Given the description of an element on the screen output the (x, y) to click on. 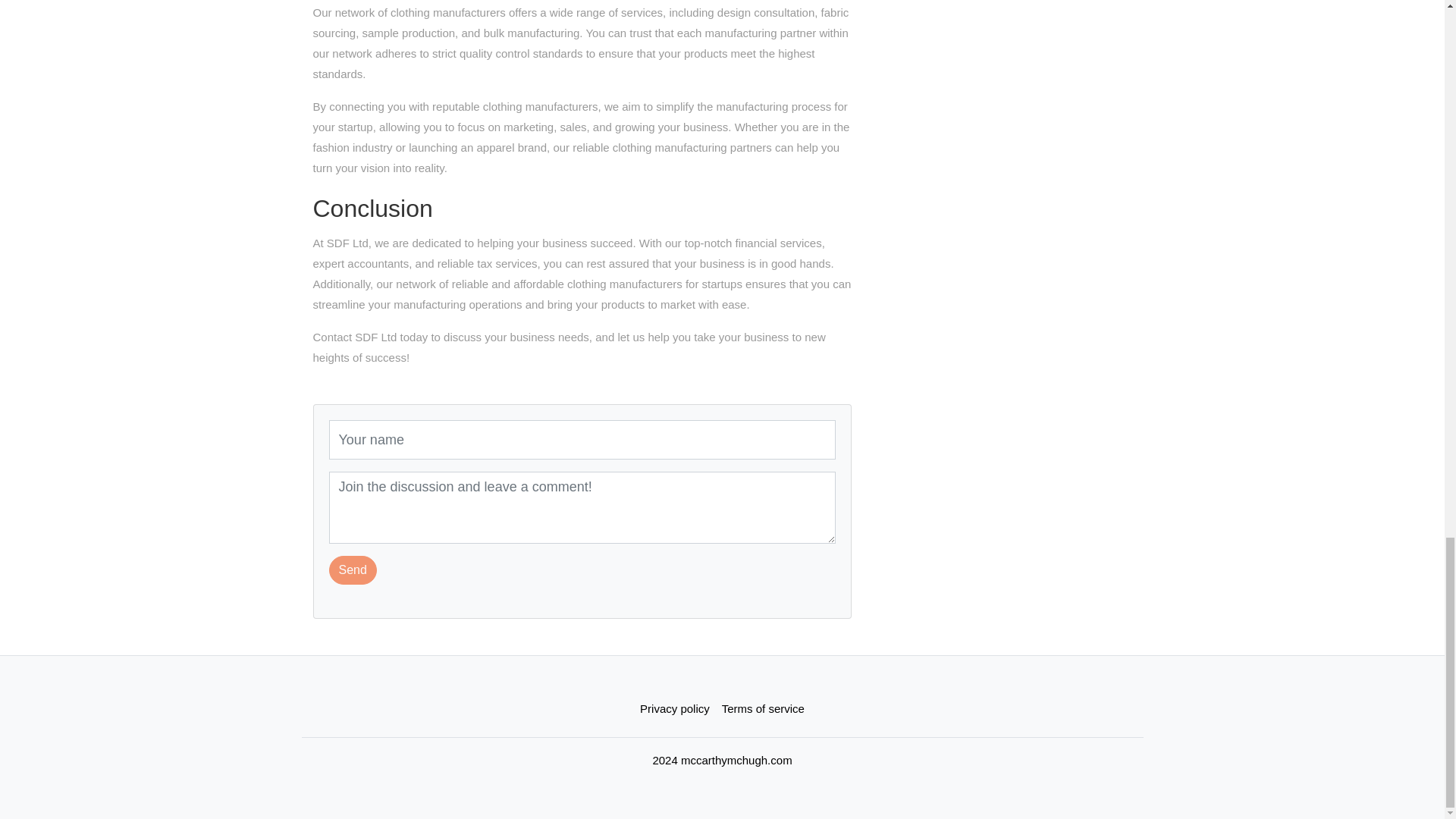
Terms of service (763, 708)
Send (353, 570)
Send (353, 570)
Privacy policy (674, 708)
